Given the description of an element on the screen output the (x, y) to click on. 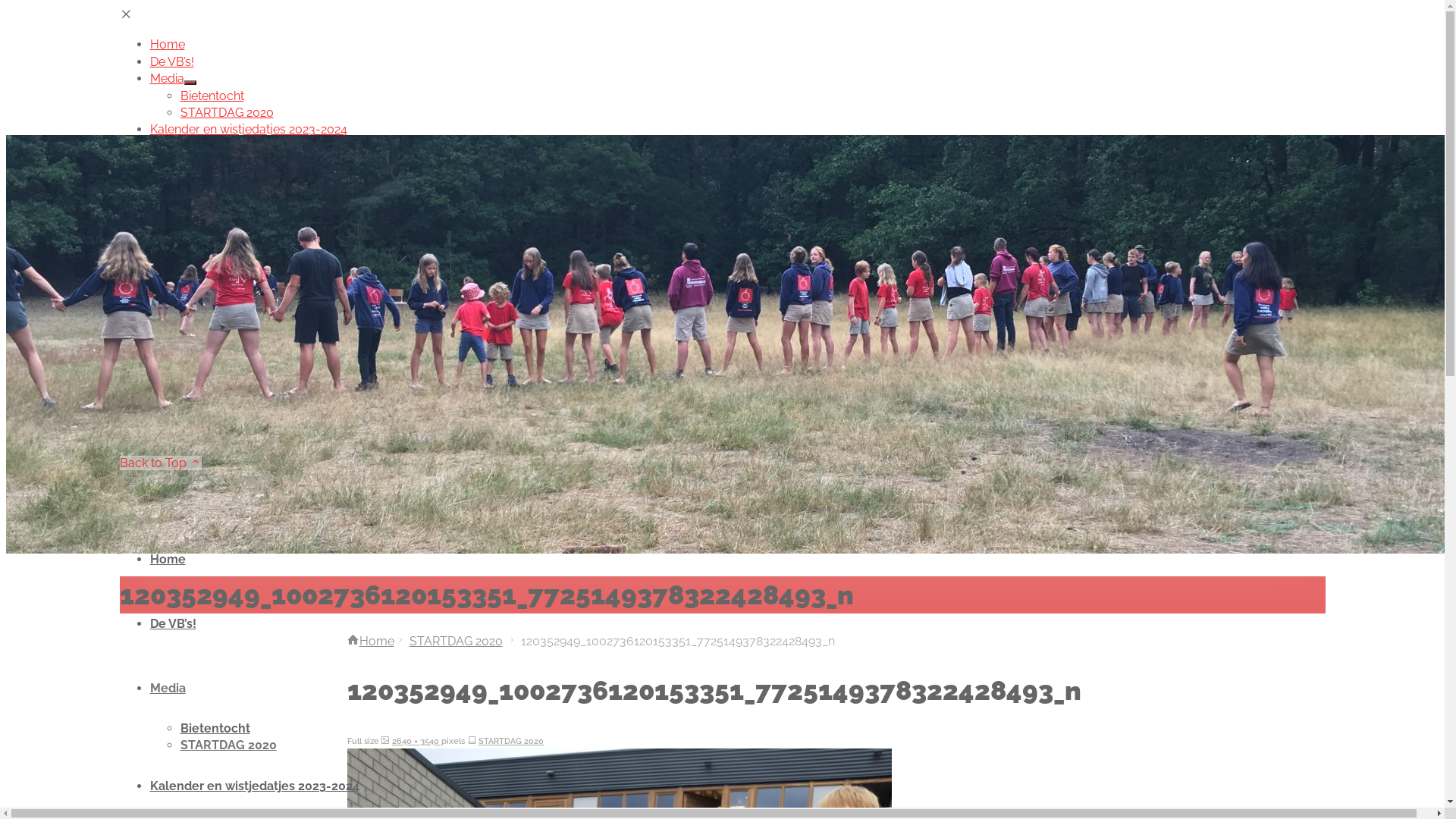
Speelclub Element type: text (208, 180)
Kalender en wistjedatjes 2023-2024 Element type: text (248, 129)
Back to Top Element type: text (160, 462)
Bietentocht Element type: text (212, 95)
Media Element type: text (167, 78)
Full size Element type: hover (384, 740)
STARTDAG 2020 Element type: text (228, 744)
STARTDAG 2020 Element type: text (455, 640)
Verhuur Element type: text (172, 264)
Afdelingen Element type: text (180, 146)
Chiro Kiekeboe Sente Element type: text (190, 312)
Published in Element type: hover (471, 740)
Sloebers Element type: text (205, 163)
Media Element type: text (167, 687)
Home Element type: text (167, 44)
Contact Element type: text (172, 282)
Skip to content Element type: text (161, 505)
STARTDAG 2020 Element type: text (510, 740)
STARTDAG 2020 Element type: text (226, 112)
Home Element type: text (370, 640)
Home Element type: text (167, 559)
Bietentocht Element type: text (215, 728)
Kalender en wistjedatjes 2023-2024 Element type: text (254, 785)
